Given the description of an element on the screen output the (x, y) to click on. 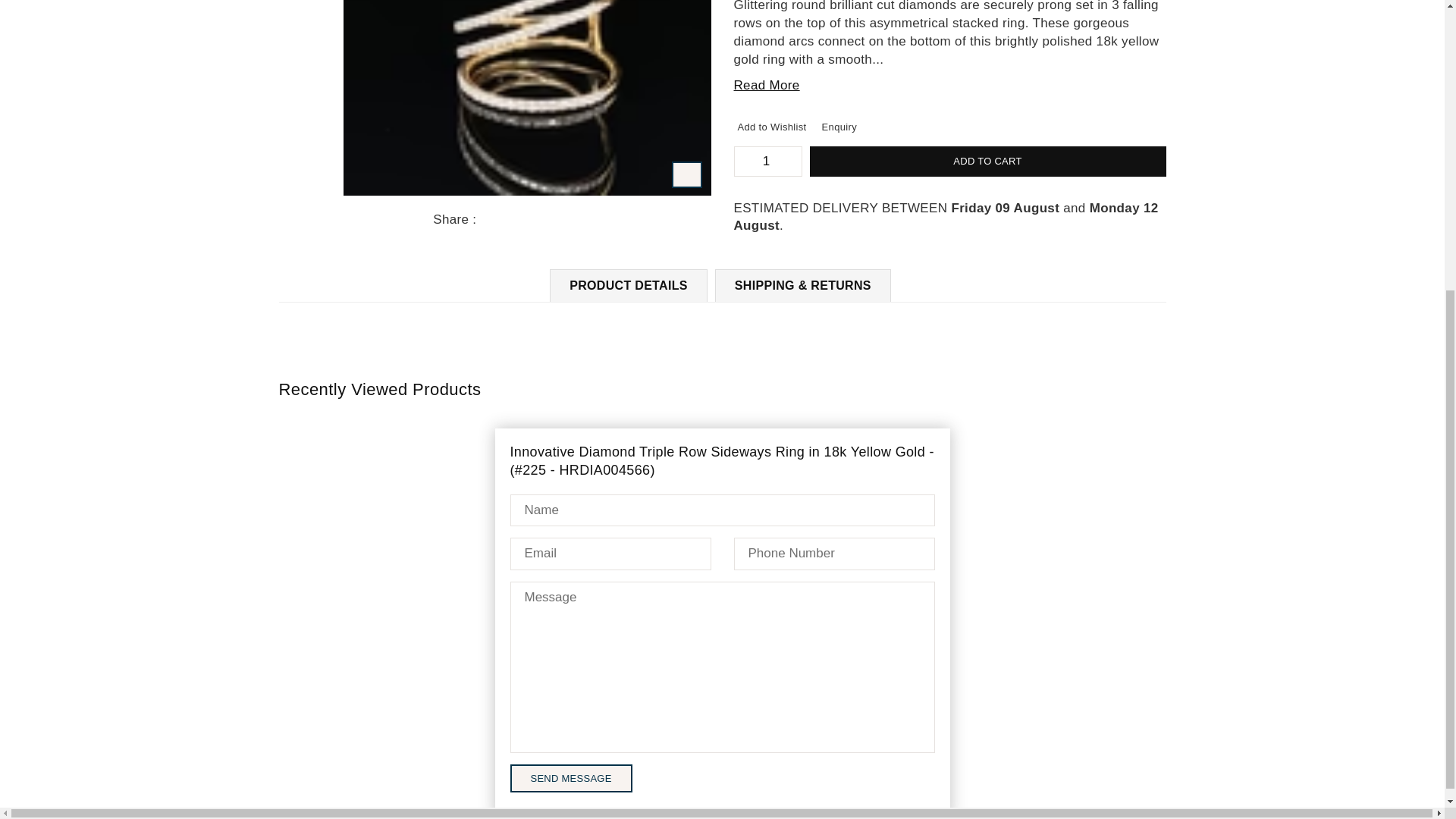
Share on Linked In (532, 220)
Share by Email (548, 220)
Quantity (767, 160)
Send Message (570, 778)
Share on Facebook (483, 220)
Tweet on Twitter (500, 220)
1 (765, 161)
Pin on Pinterest (516, 220)
